Given the description of an element on the screen output the (x, y) to click on. 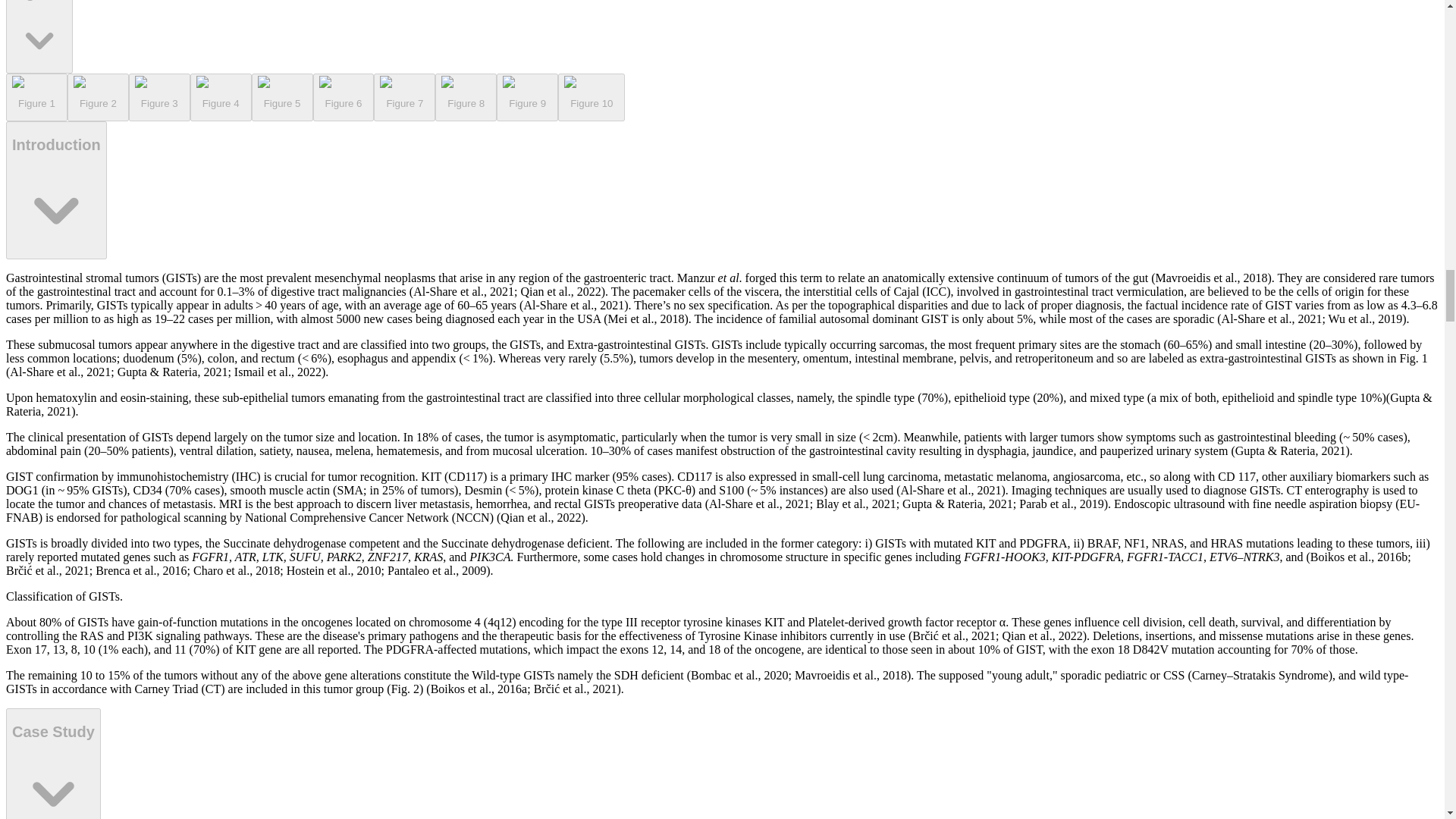
Figure 10 (590, 97)
Figure 5 (282, 97)
Figure 3 (159, 97)
Figure 6 (343, 97)
Figure 1 (35, 97)
Figure 2 (97, 97)
Figure 9 (526, 97)
Figure 7 (404, 97)
Introduction (55, 190)
Figure 8 (465, 97)
Figure 4 (220, 97)
Figures (38, 36)
